Given the description of an element on the screen output the (x, y) to click on. 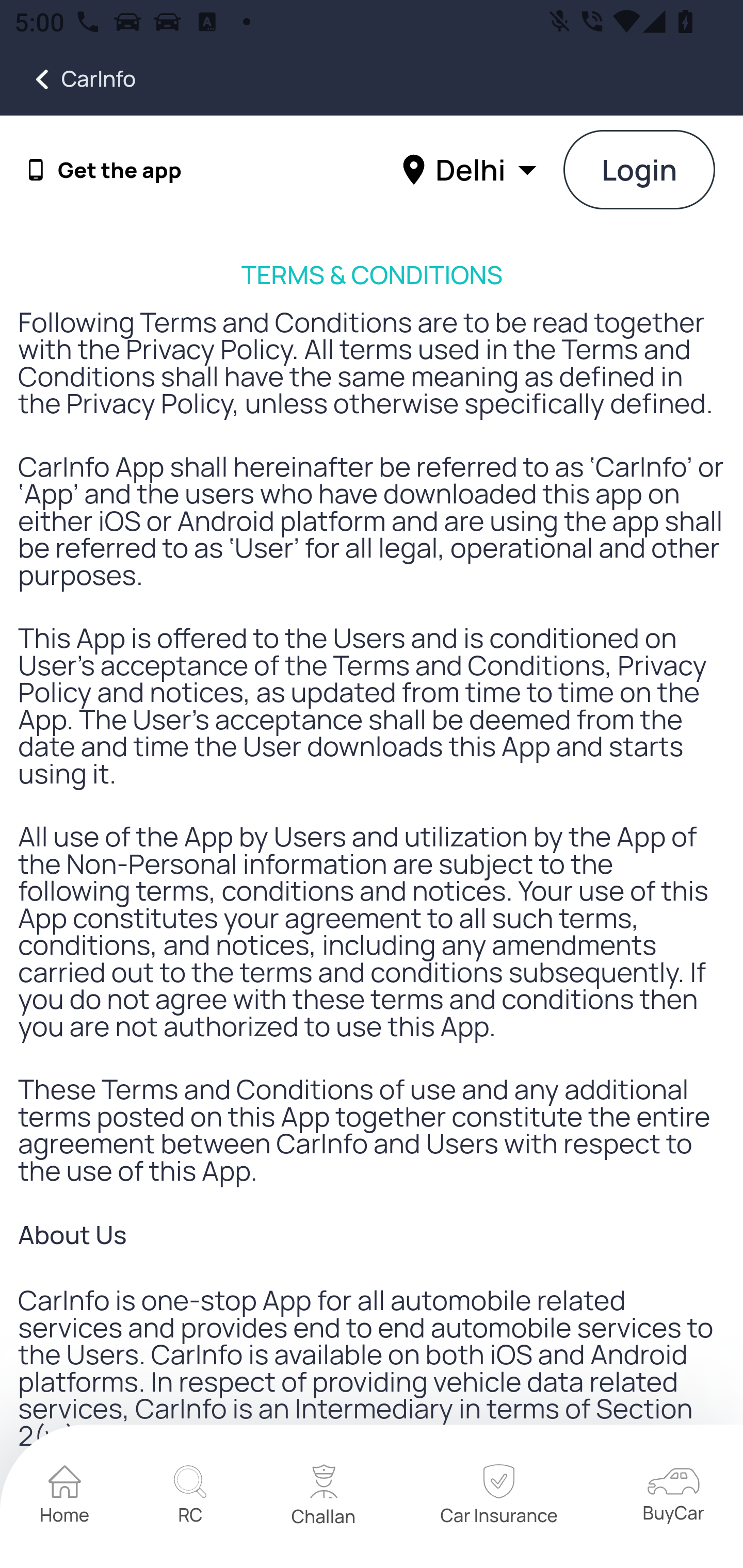
CarInfo (67, 79)
Login (639, 170)
Delhi (471, 169)
Get the app (119, 170)
home Challan home Challan (323, 1496)
home Home home Home (64, 1496)
home RC home RC (190, 1496)
home Car Insurance home Car Insurance (497, 1497)
home BuyCar home BuyCar (672, 1496)
